Given the description of an element on the screen output the (x, y) to click on. 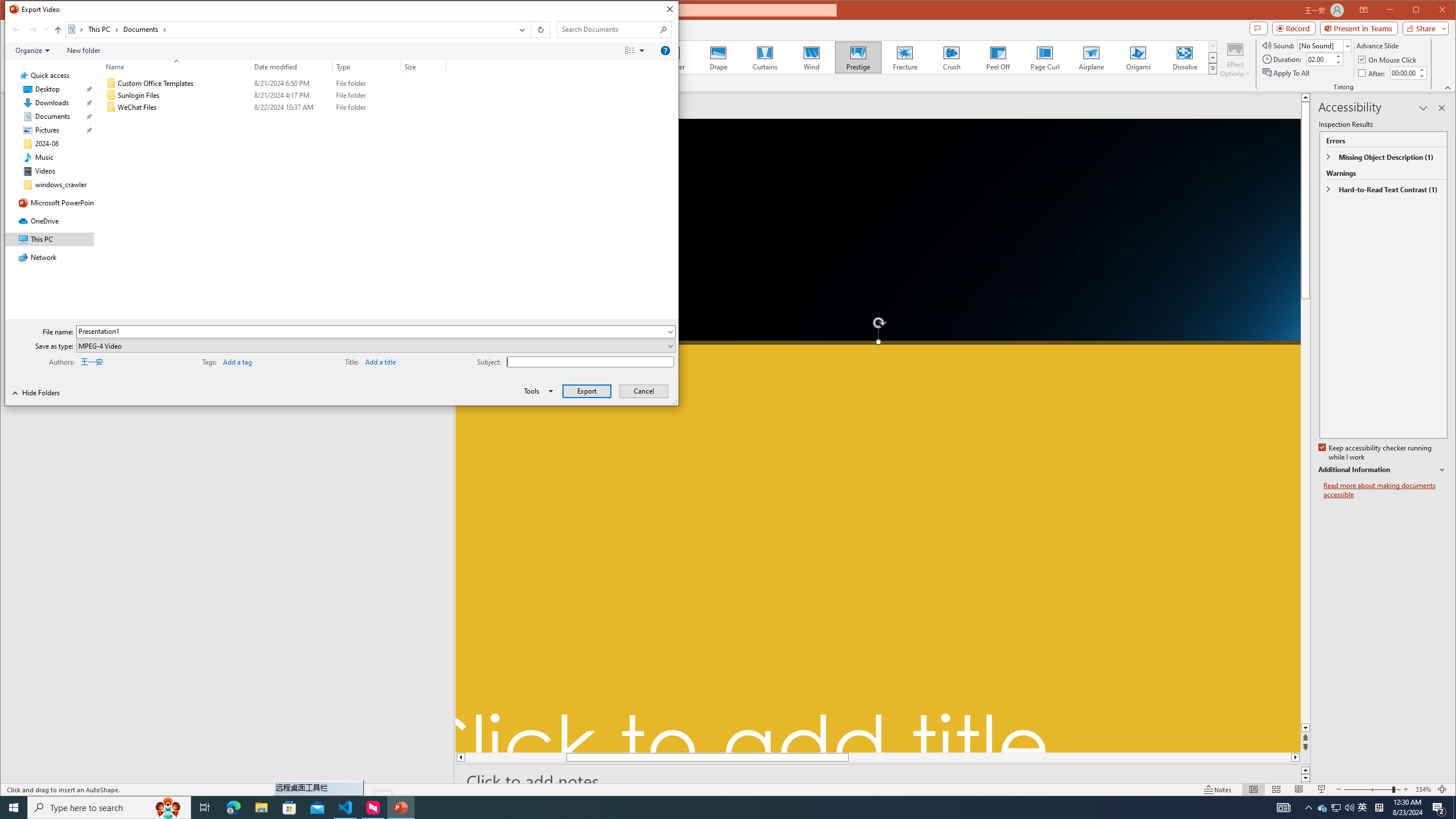
Previous Locations (520, 29)
Size (423, 66)
New folder (83, 50)
Origami (1138, 57)
Tools (536, 390)
Cancel (643, 391)
Apply To All (1286, 72)
